Given the description of an element on the screen output the (x, y) to click on. 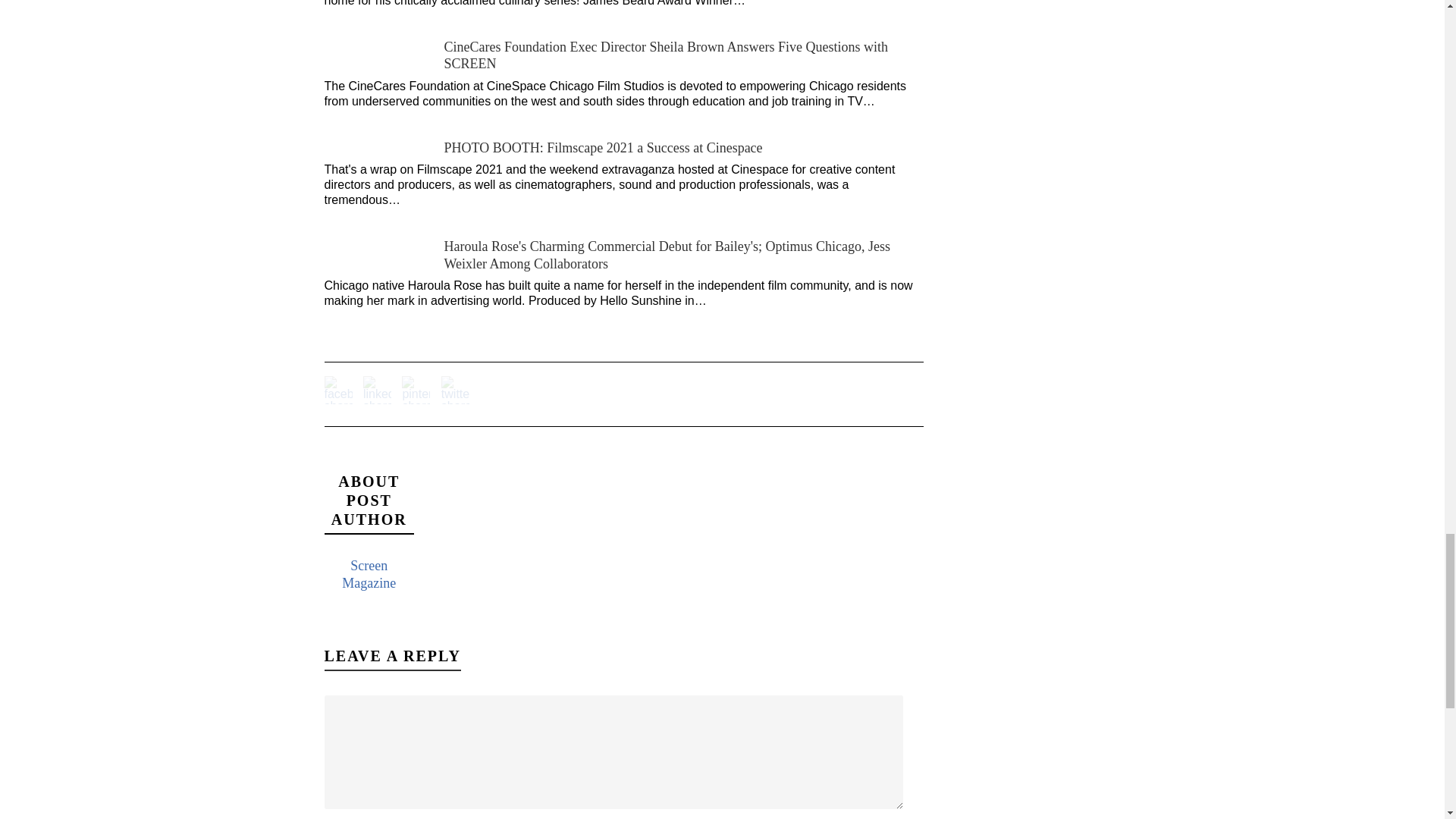
Posts by Screen Magazine (369, 573)
